Given the description of an element on the screen output the (x, y) to click on. 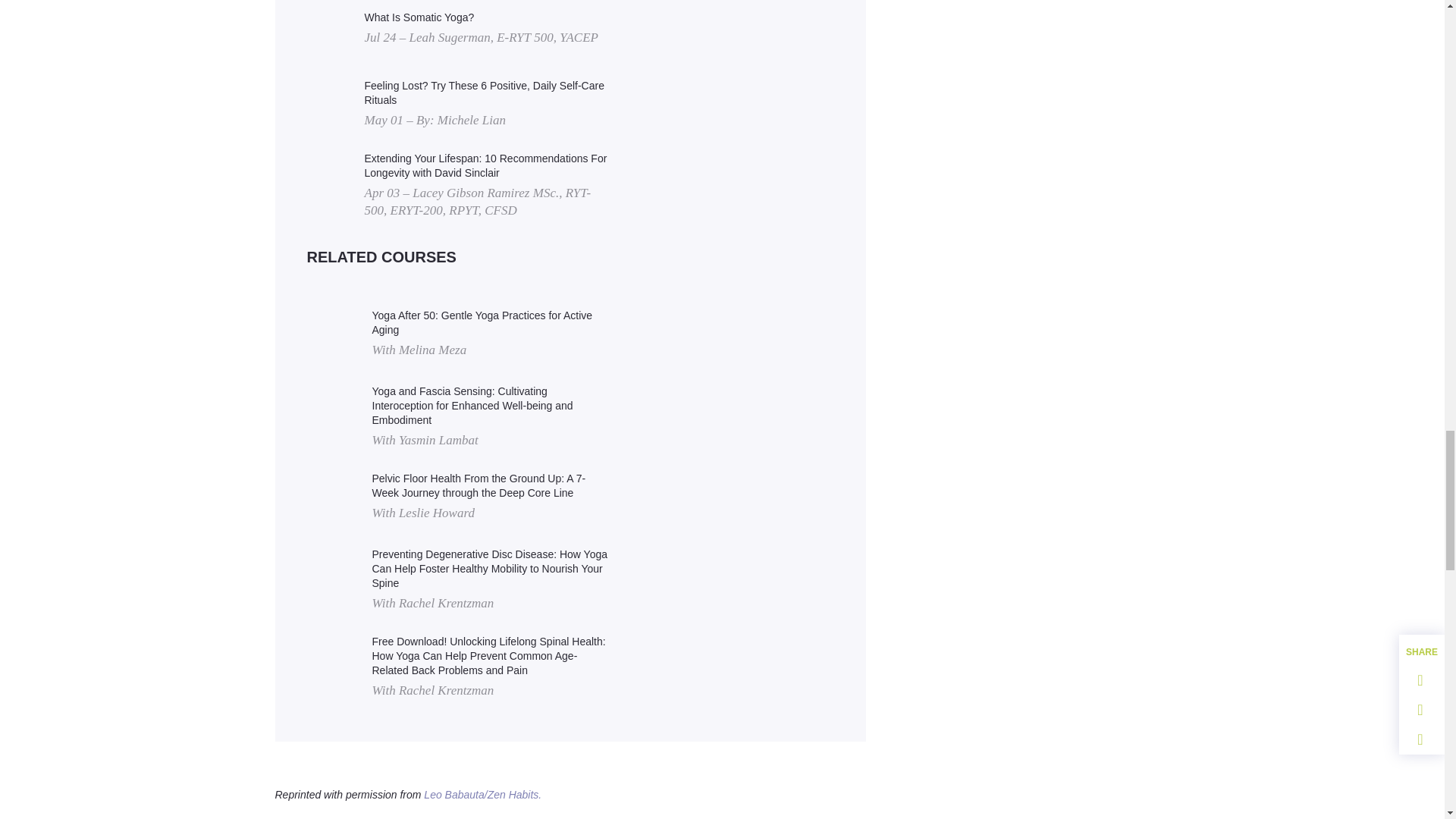
What Is Somatic Yoga? (480, 17)
